Given the description of an element on the screen output the (x, y) to click on. 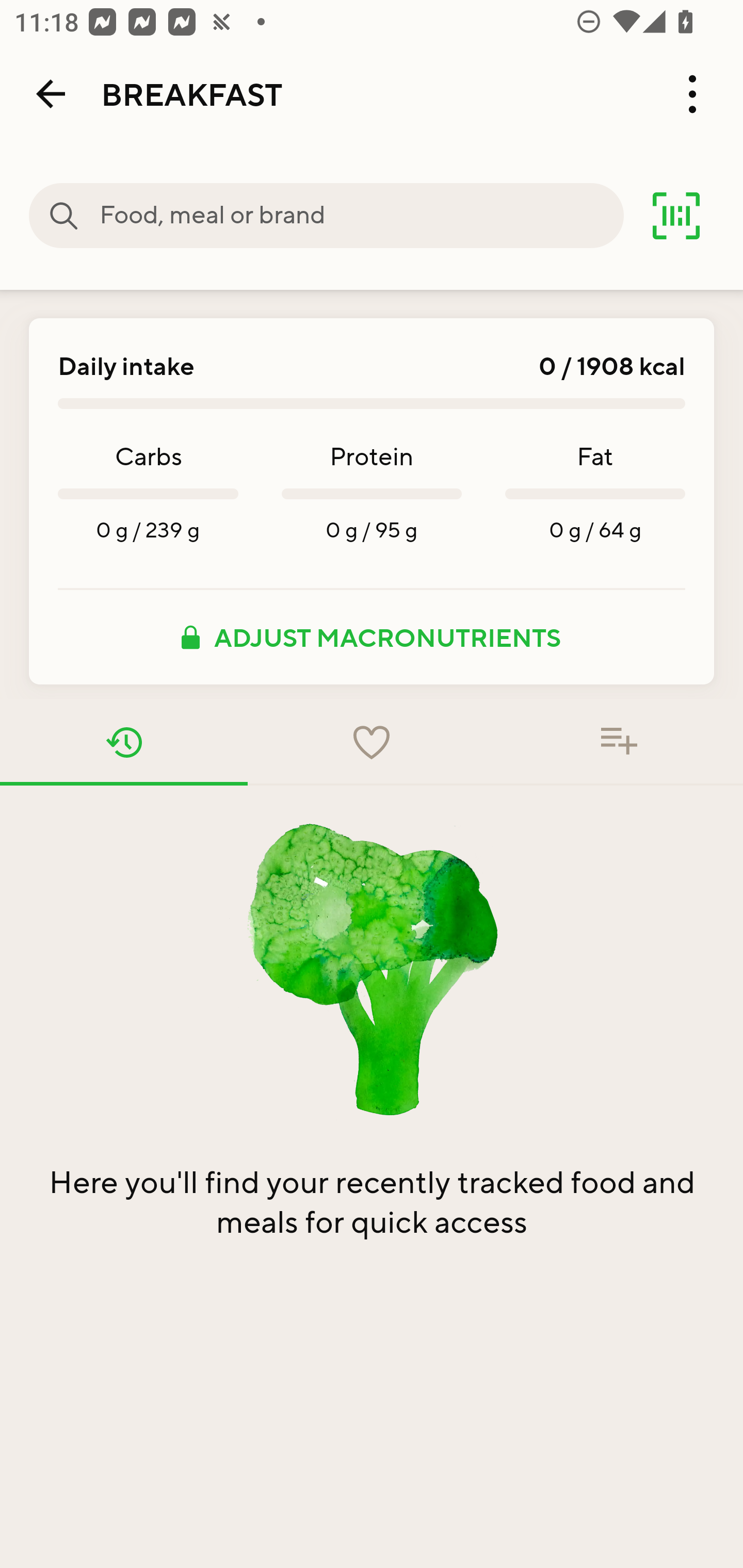
Back (50, 93)
Food, meal or brand (63, 215)
Food, meal or brand (361, 215)
ADJUST MACRONUTRIENTS (371, 637)
Favorites (371, 742)
Food added (619, 742)
